Given the description of an element on the screen output the (x, y) to click on. 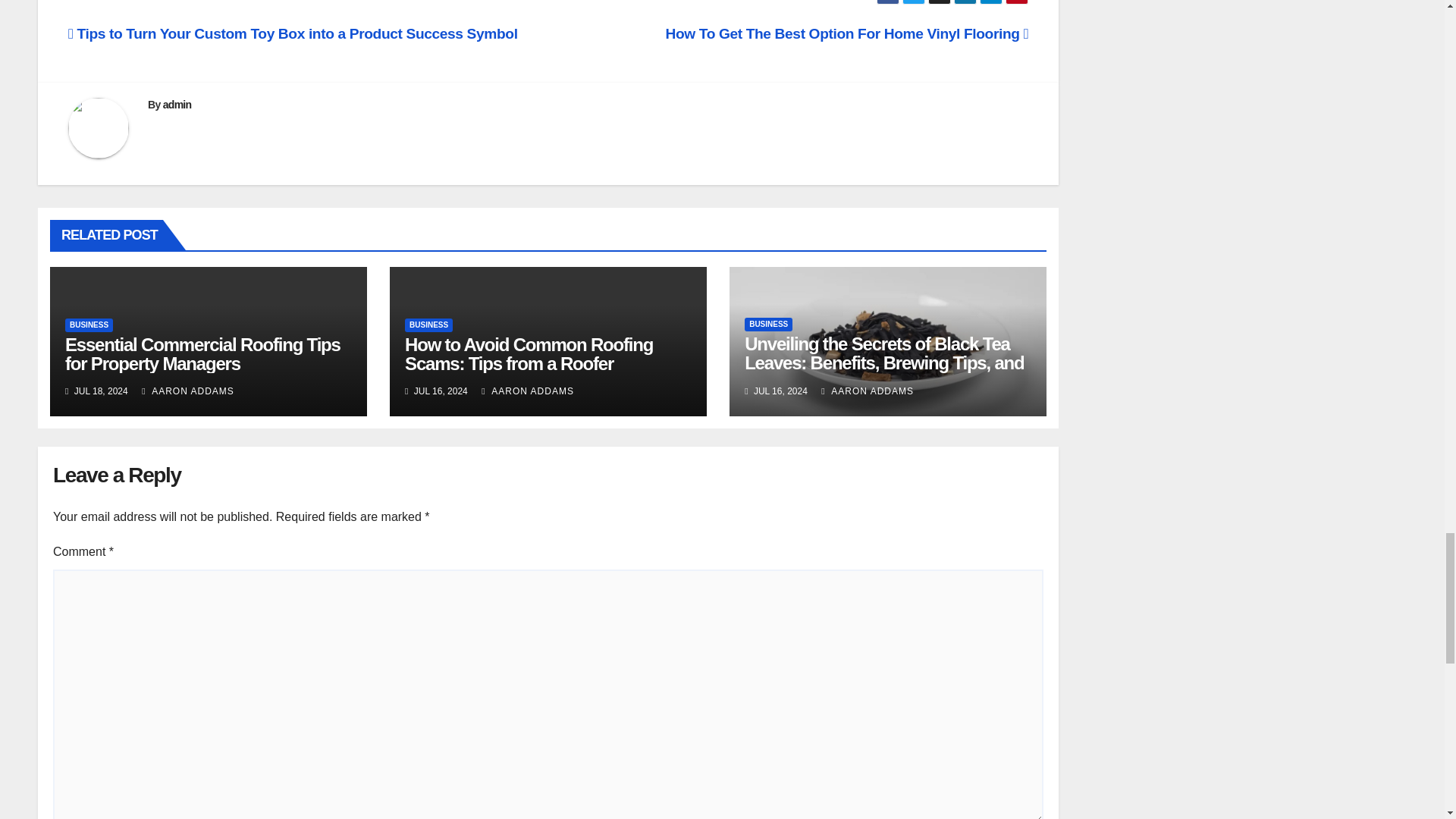
Essential Commercial Roofing Tips for Property Managers (202, 353)
BUSINESS (89, 325)
admin (177, 104)
How To Get The Best Option For Home Vinyl Flooring (846, 33)
